Given the description of an element on the screen output the (x, y) to click on. 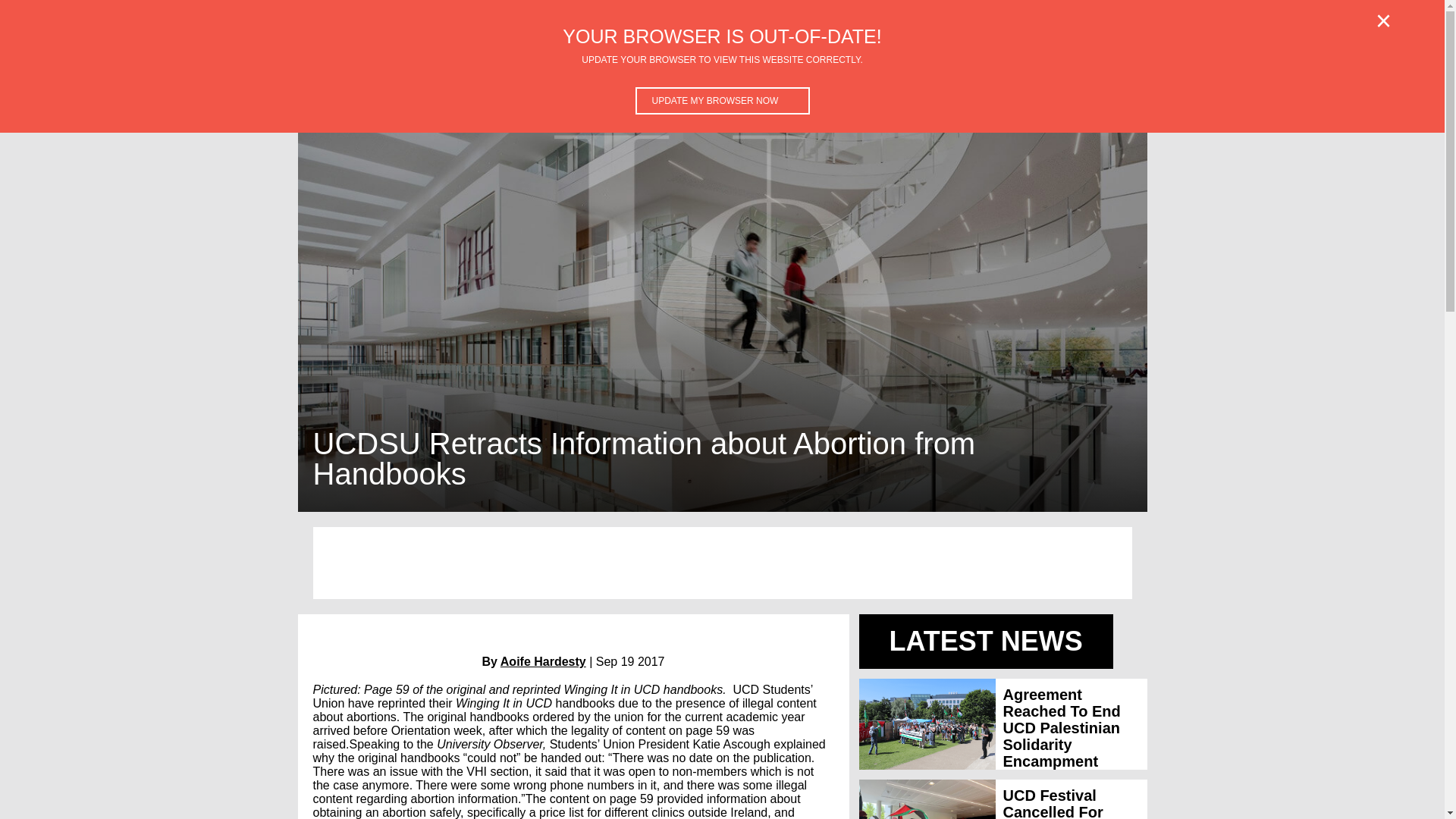
The Harpy (848, 73)
Features (366, 73)
Advertisement (1018, 73)
Advertisement (722, 562)
Science (501, 73)
Sport (667, 73)
Gaeilge (725, 73)
Columns (926, 73)
Close (1383, 21)
